Given the description of an element on the screen output the (x, y) to click on. 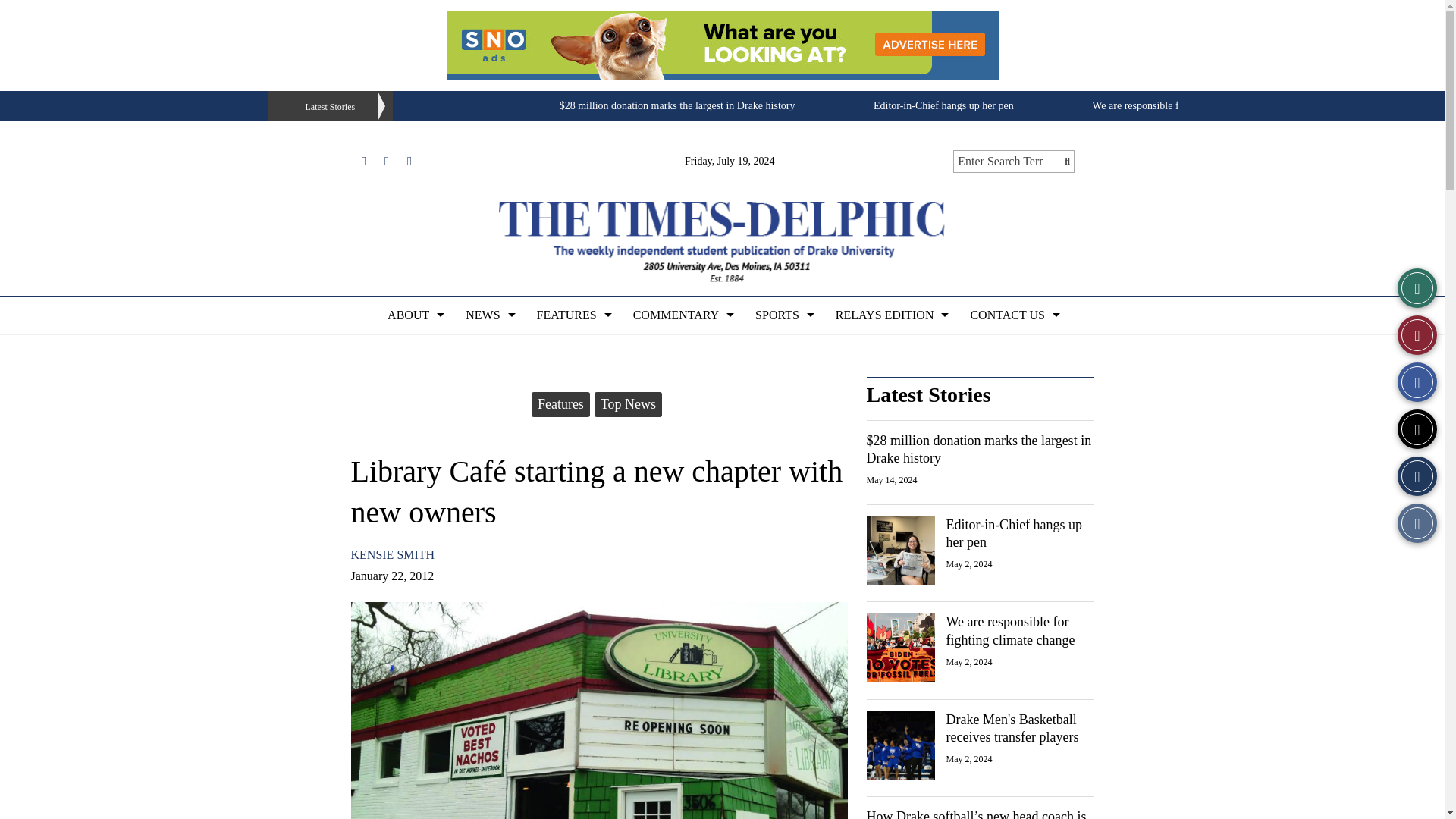
NEWS (488, 315)
We are responsible for fighting climate change (1191, 105)
COMMENTARY (681, 315)
SPORTS (783, 315)
FEATURES (572, 315)
Editor-in-Chief hangs up her pen (943, 105)
ABOUT (413, 315)
